Given the description of an element on the screen output the (x, y) to click on. 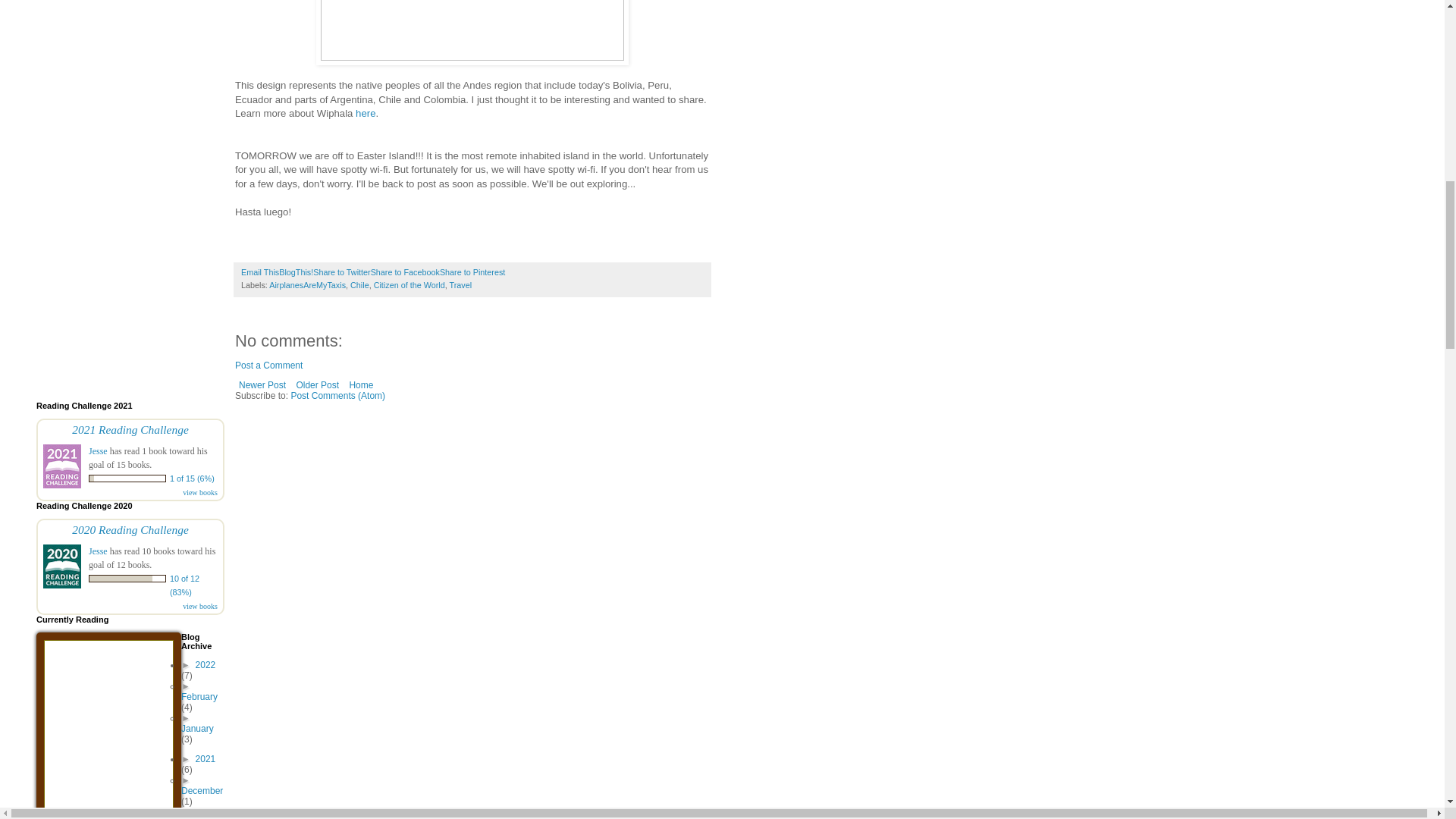
Share to Facebook (405, 271)
BlogThis! (296, 271)
Older Post (317, 384)
Share to Facebook (405, 271)
Citizen of the World (409, 284)
2021 Reading Challenge (130, 429)
2022 (205, 665)
Newer Post (261, 384)
Jesse (97, 551)
February (198, 696)
Post a Comment (268, 365)
Jesse (97, 450)
AirplanesAreMyTaxis (307, 284)
here (365, 112)
view books (199, 605)
